Given the description of an element on the screen output the (x, y) to click on. 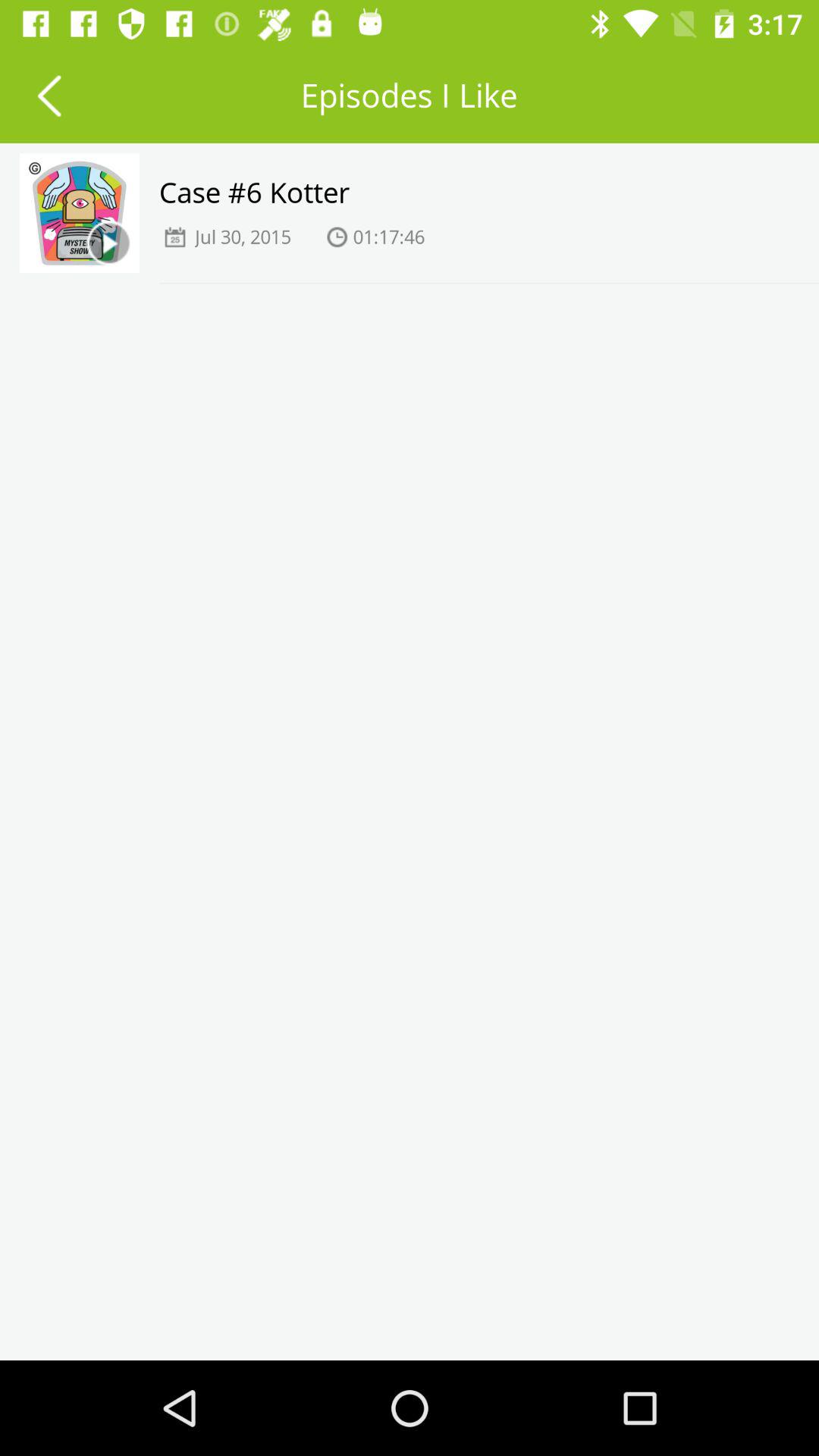
go back (48, 95)
